Given the description of an element on the screen output the (x, y) to click on. 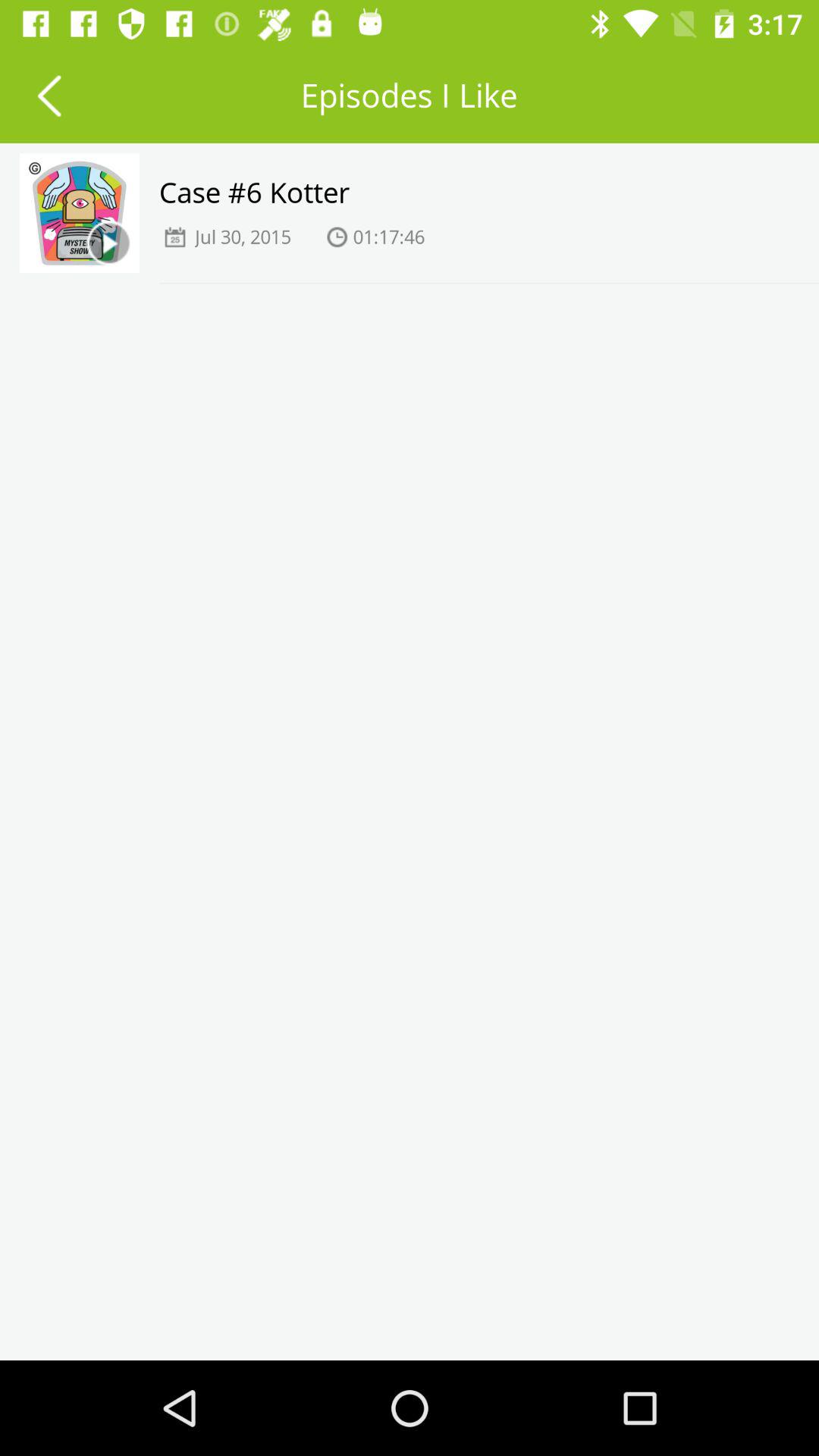
go back (48, 95)
